Given the description of an element on the screen output the (x, y) to click on. 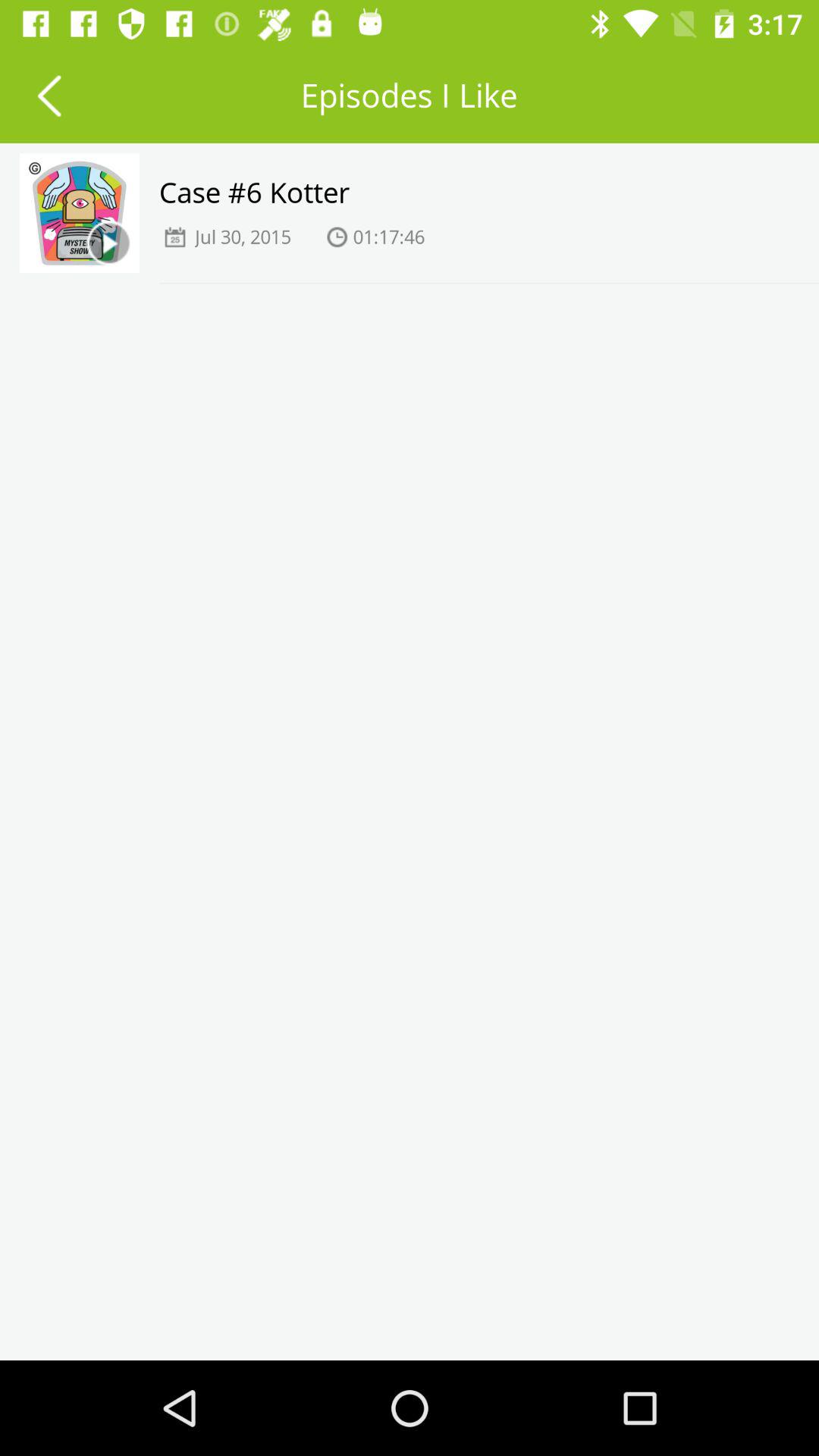
go back (48, 95)
